Given the description of an element on the screen output the (x, y) to click on. 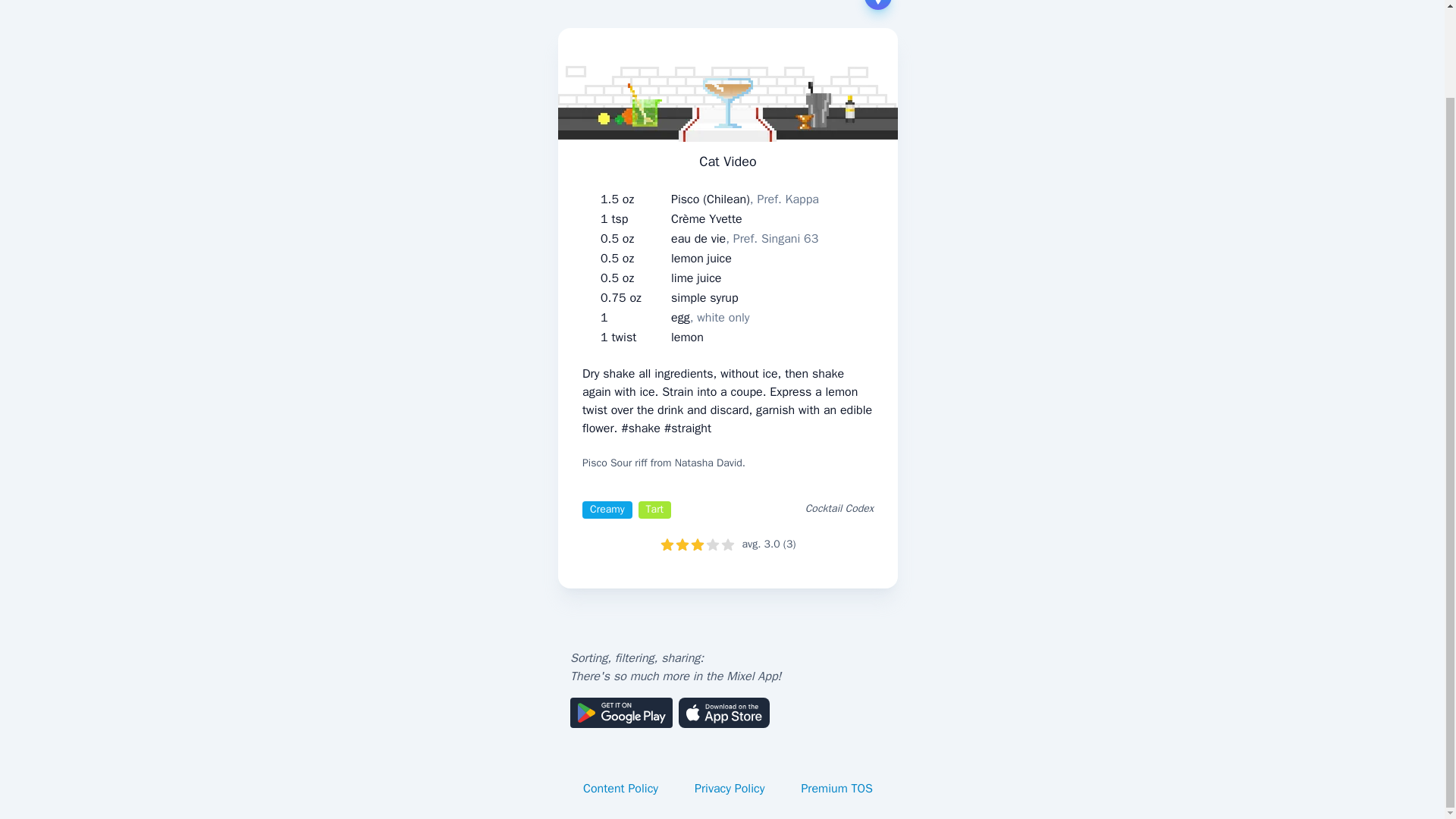
simple syrup (704, 298)
Content Policy (620, 788)
egg, white only (710, 317)
lemon juice (701, 258)
Privacy Policy (729, 788)
OPEN IN MIXEL (840, 4)
lemon (687, 337)
Premium TOS (836, 788)
eau de vie, Pref. Singani 63 (744, 239)
lime juice (695, 278)
